Given the description of an element on the screen output the (x, y) to click on. 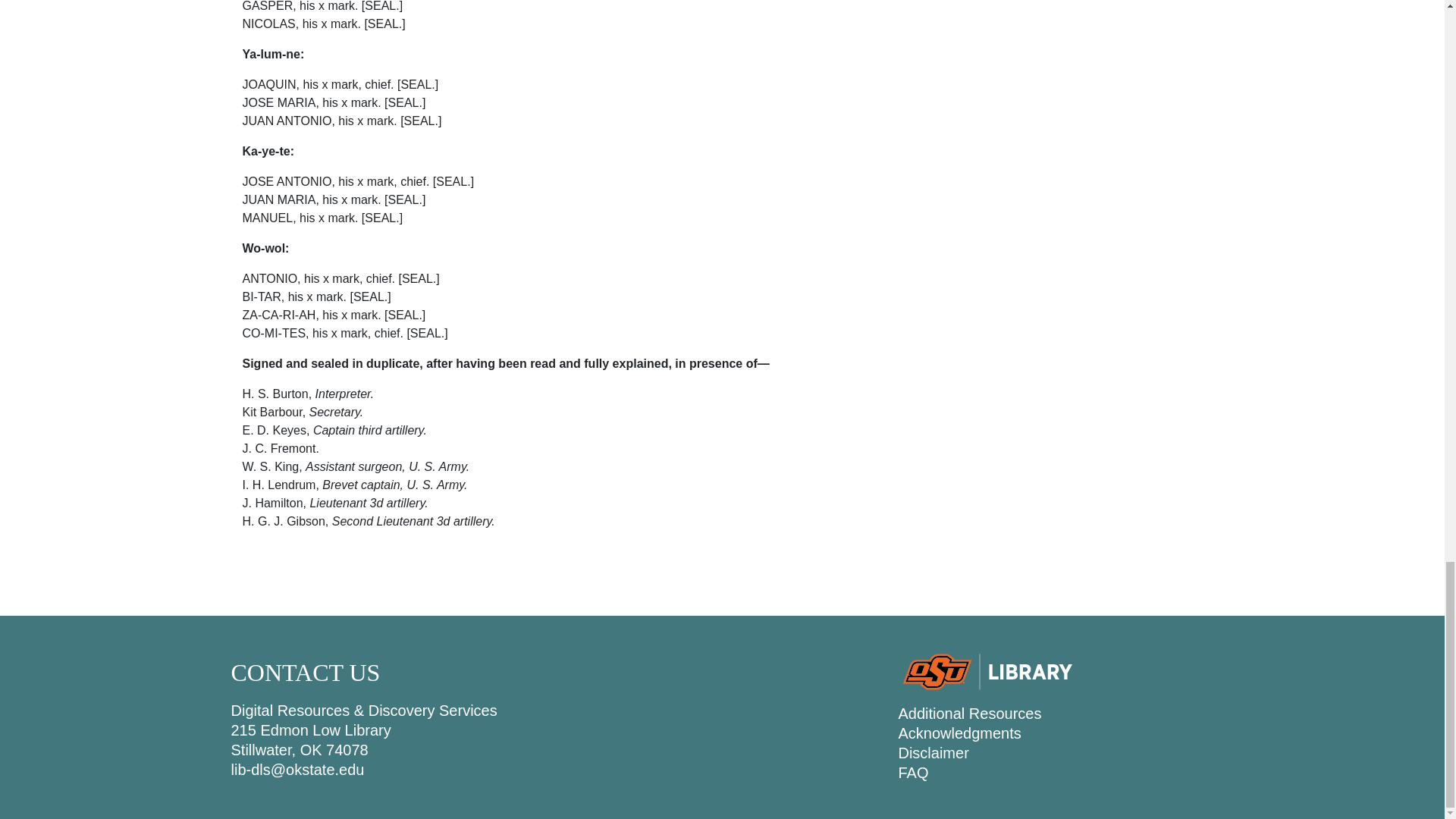
FAQ (913, 772)
Additional Resources (969, 713)
Disclaimer (933, 752)
Acknowledgments (959, 733)
